Given the description of an element on the screen output the (x, y) to click on. 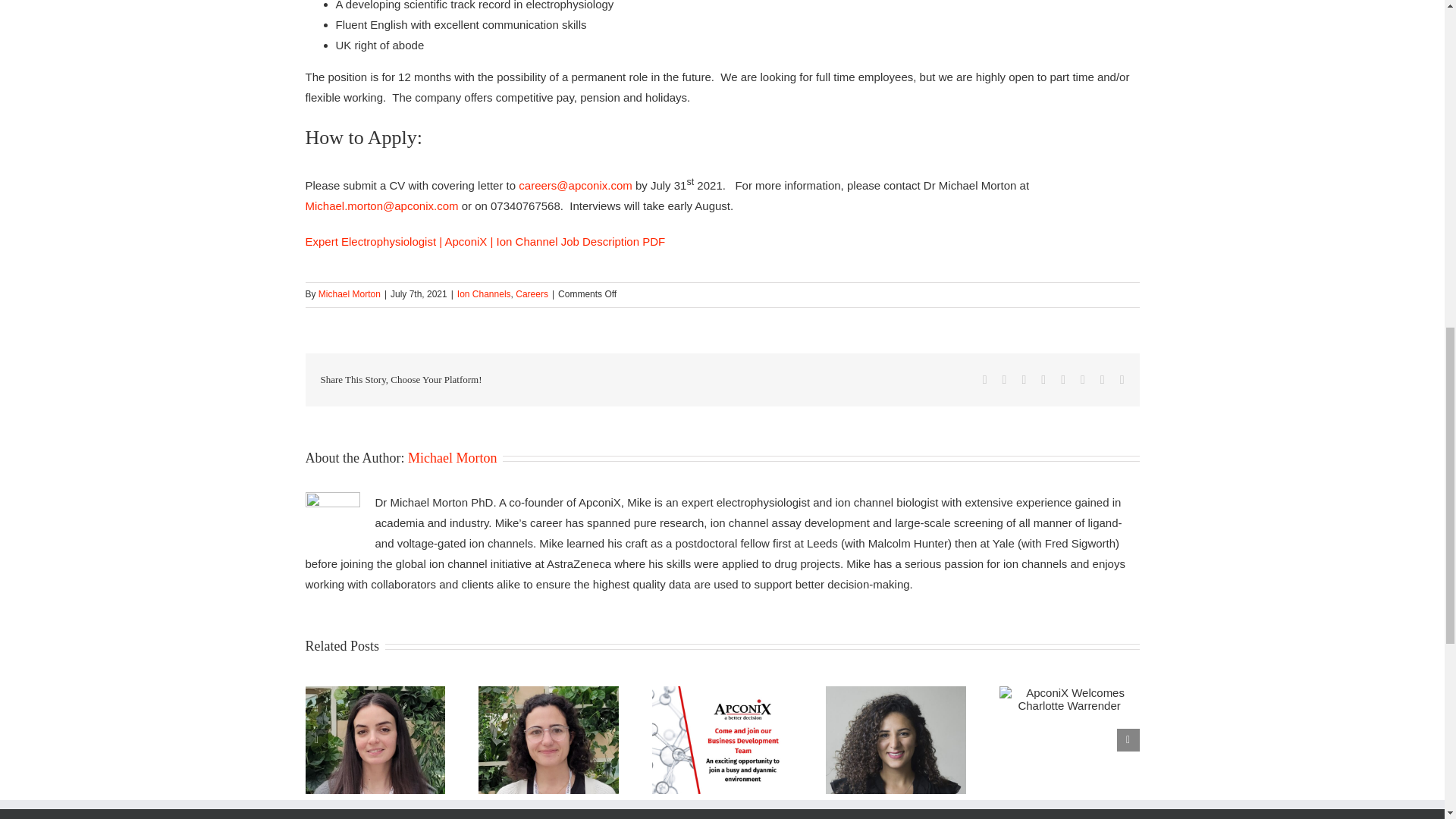
Posts by Michael Morton (349, 294)
Posts by Michael Morton (451, 458)
